Given the description of an element on the screen output the (x, y) to click on. 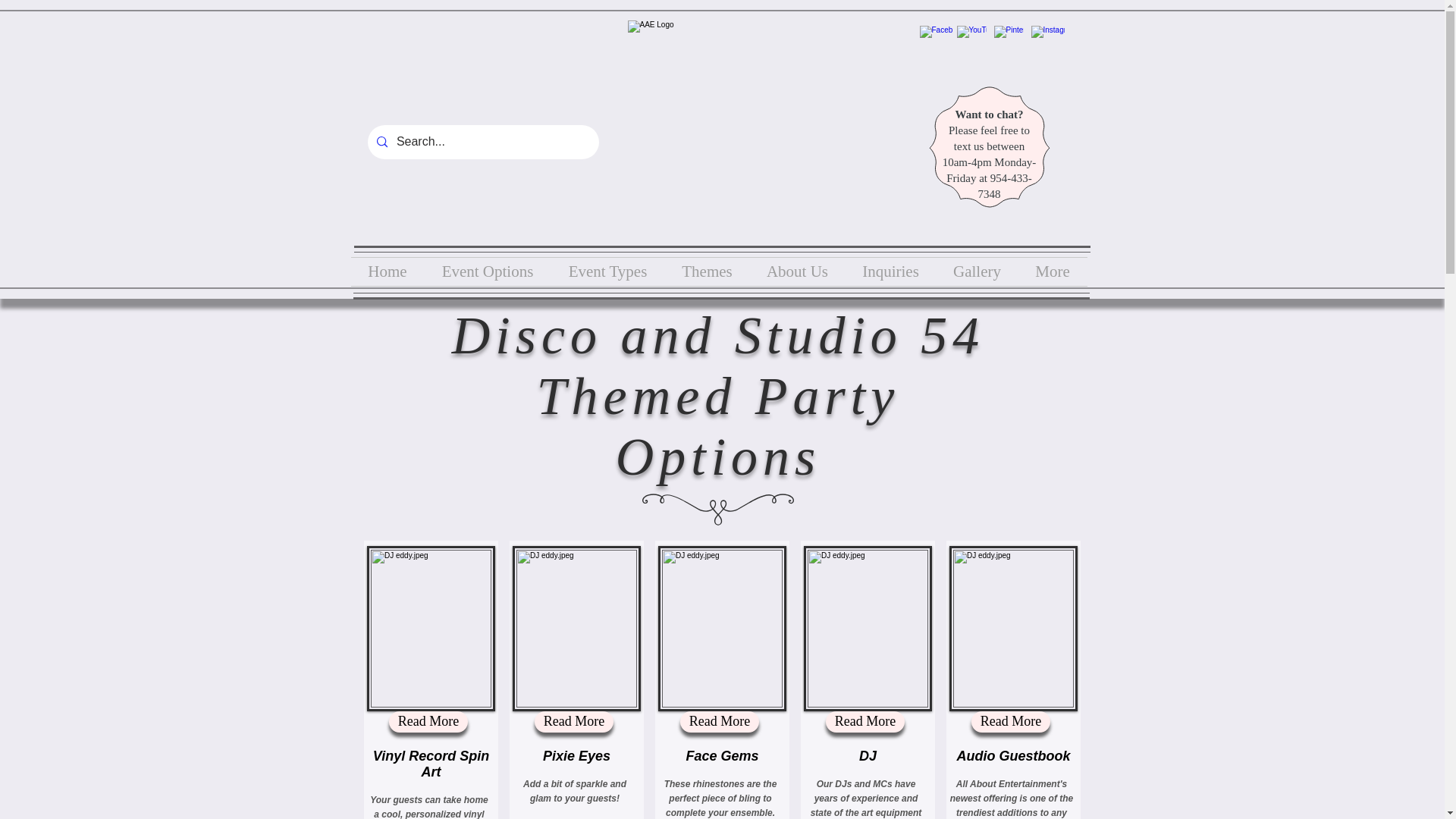
Read More (427, 721)
Read More (573, 721)
Audio Guestbook.jpg (1013, 628)
Gallery (976, 271)
Inquiries (890, 271)
Vinyl Record Spin Art.png (430, 628)
pixie glitter eyes.jpg (576, 628)
Read More (718, 721)
DJ eddy.jpeg (867, 628)
Face Rhinestones.png (722, 628)
Home (386, 271)
